Given the description of an element on the screen output the (x, y) to click on. 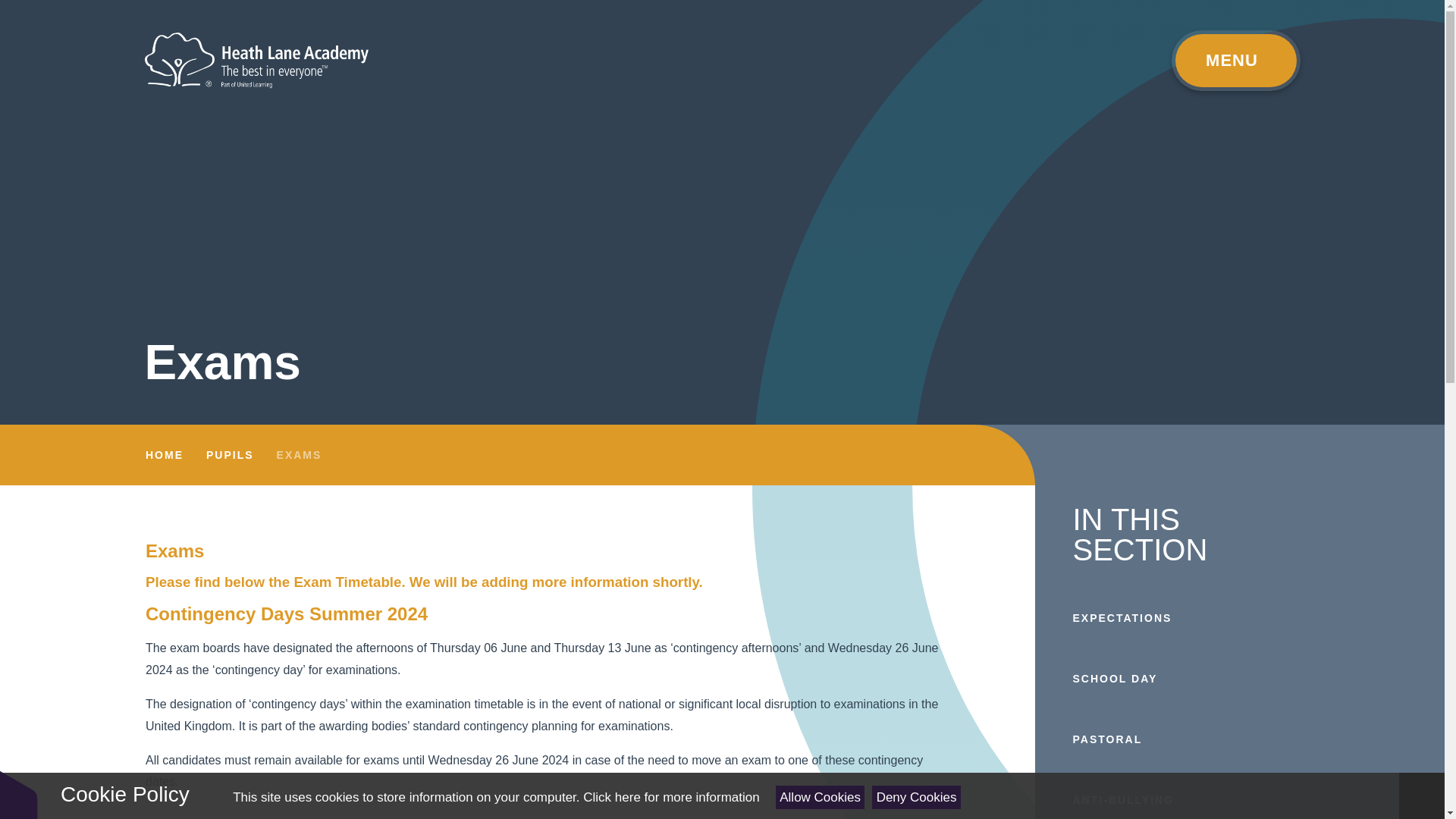
Allow Cookies (820, 797)
Deny Cookies (915, 797)
MENU (1235, 60)
See cookie policy (670, 797)
